Given the description of an element on the screen output the (x, y) to click on. 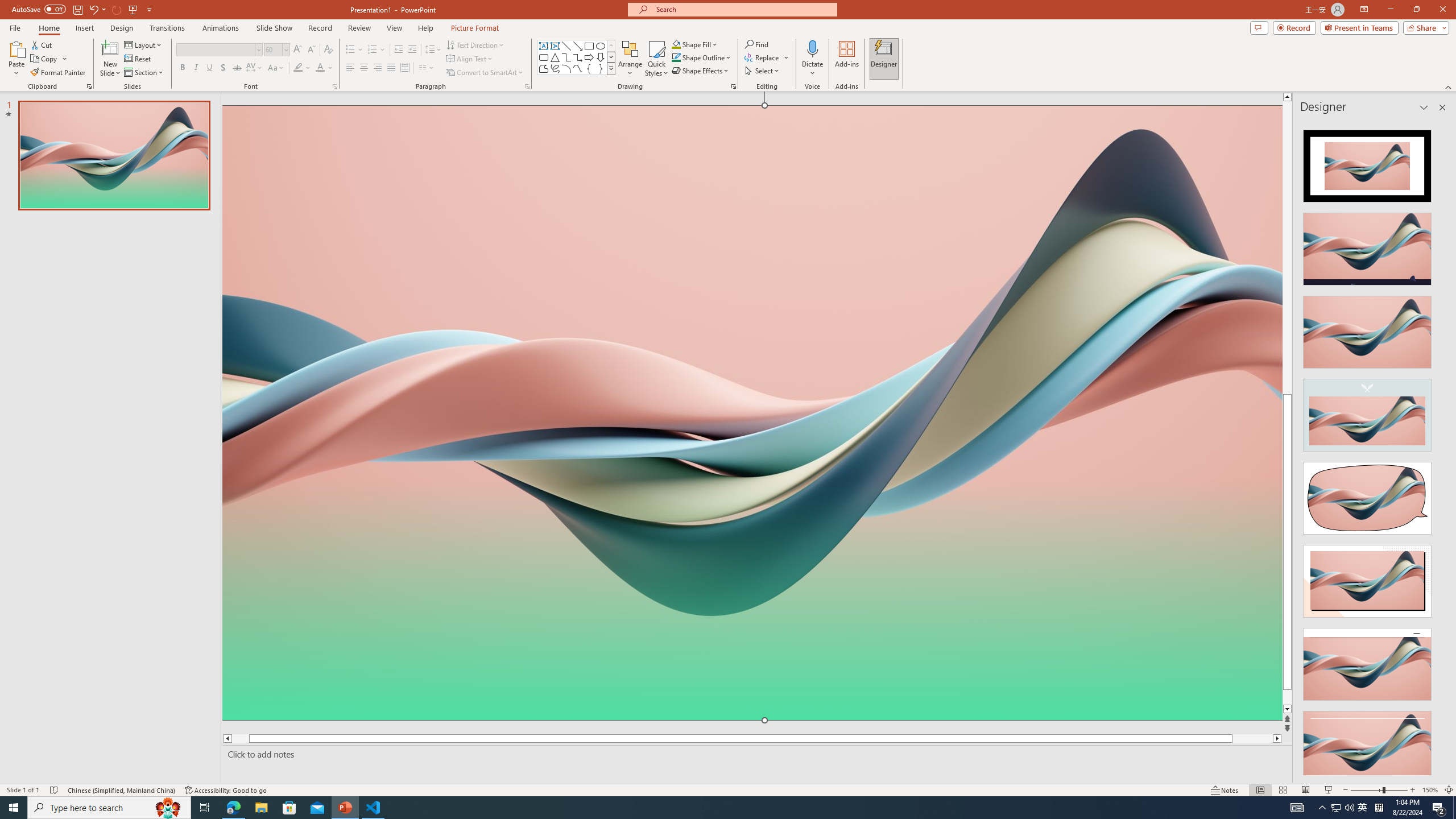
Picture Format (475, 28)
